Given the description of an element on the screen output the (x, y) to click on. 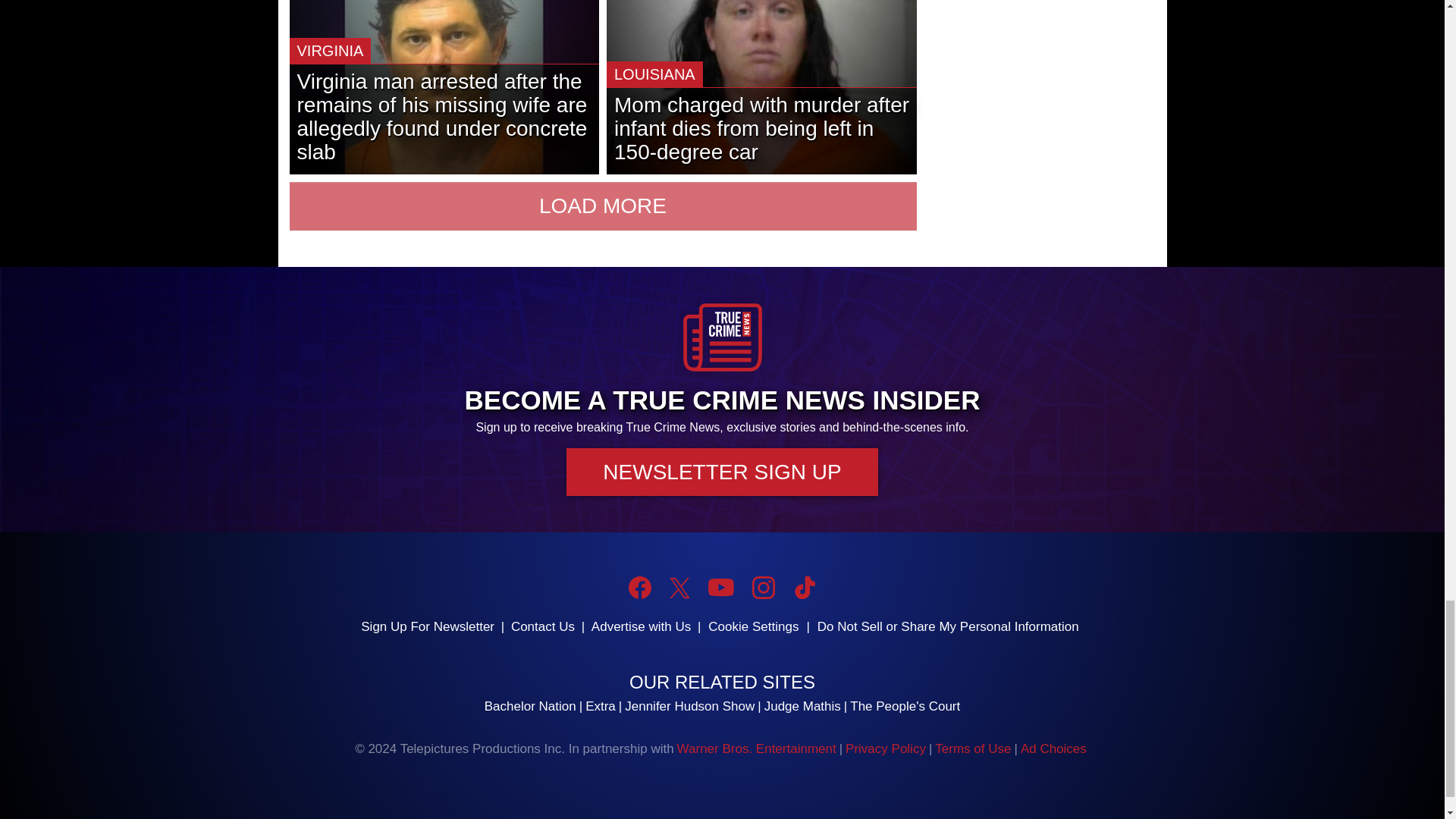
TikTok (804, 587)
Instagram (763, 587)
Facebook (639, 587)
Twitter (679, 588)
YouTube (720, 587)
